Given the description of an element on the screen output the (x, y) to click on. 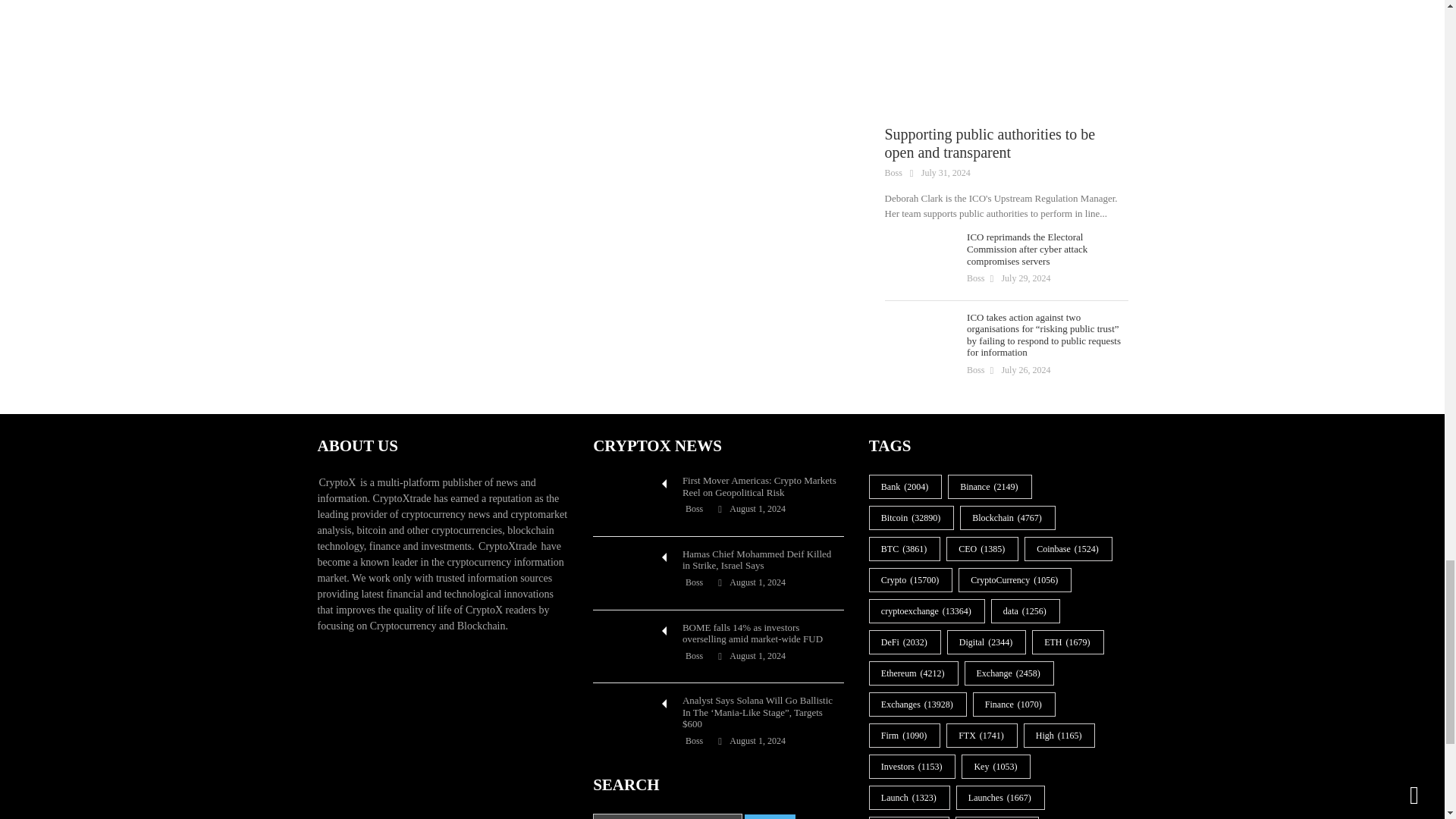
Search (769, 816)
Search (769, 816)
Supporting public authorities to be open and transparent (1004, 55)
